Given the description of an element on the screen output the (x, y) to click on. 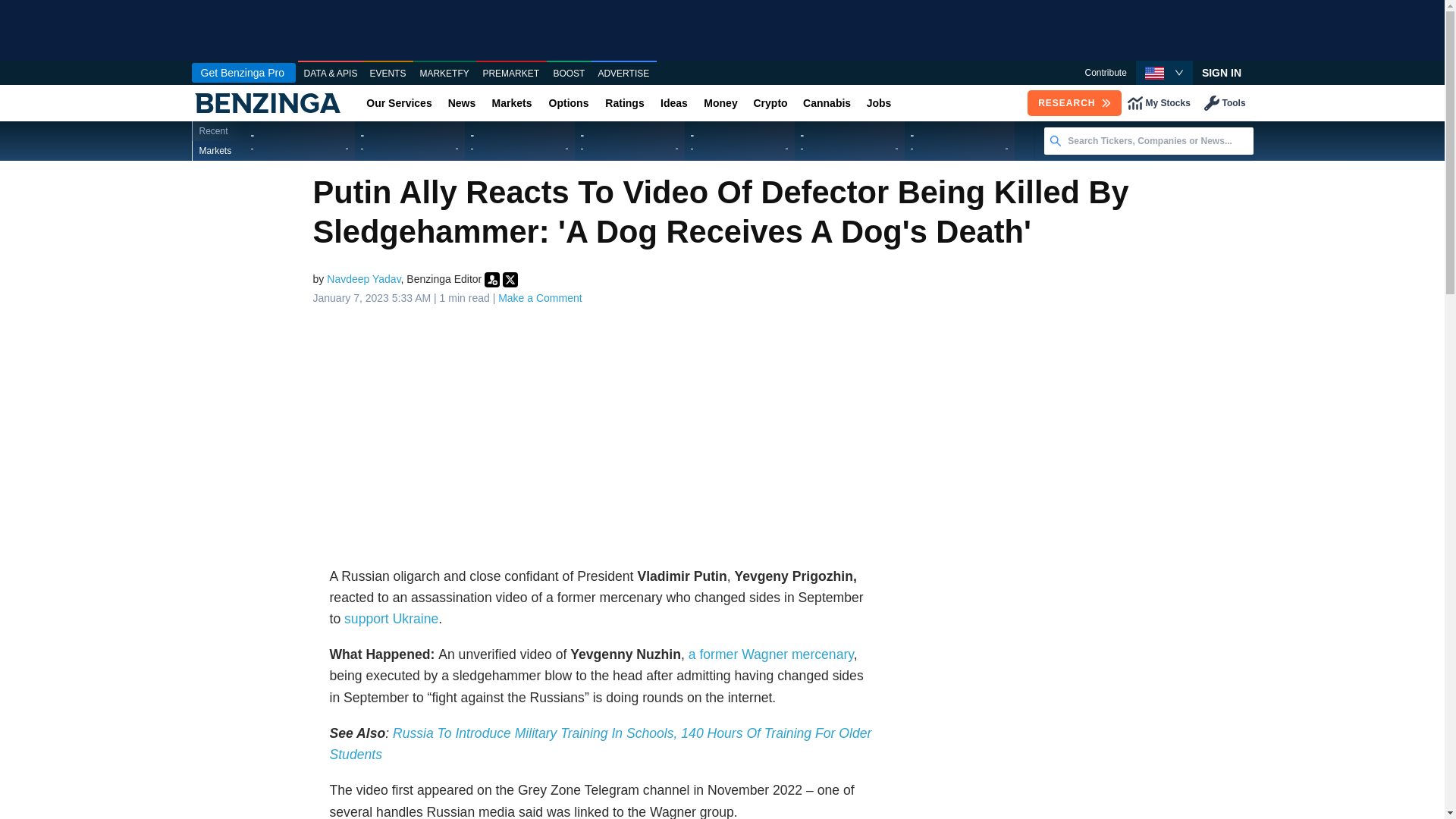
ADVERTISE (623, 73)
MARKETFY (444, 73)
Markets (511, 103)
Our Services (398, 103)
BOOST (569, 73)
EVENTS (387, 73)
Get Benzinga Pro (242, 72)
News (461, 103)
PREMARKET (511, 73)
News (461, 103)
Contribute (1104, 72)
Our Services (398, 103)
SIGN IN (1221, 72)
USA (1153, 72)
